Given the description of an element on the screen output the (x, y) to click on. 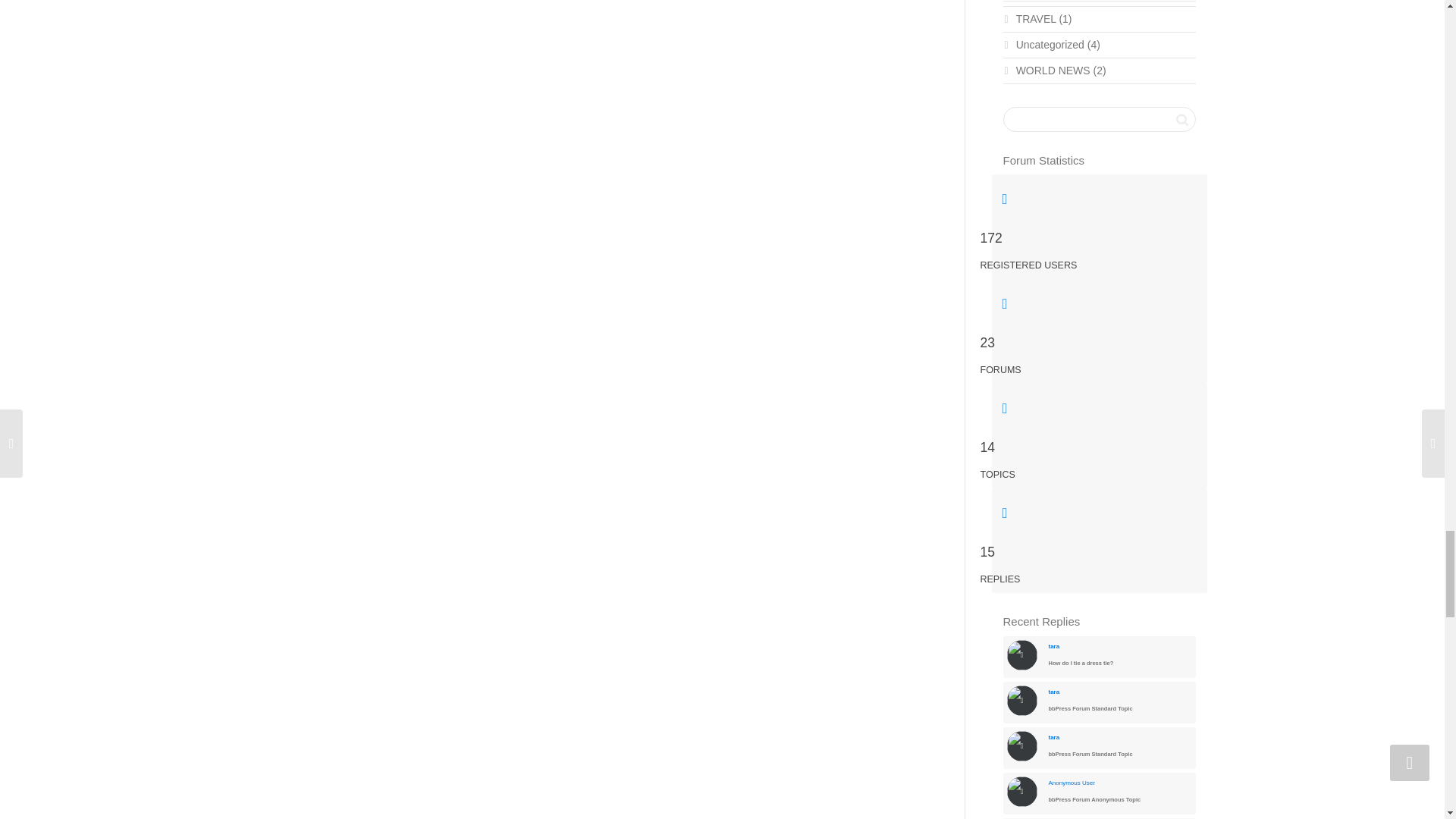
Search (1181, 119)
Search (1181, 119)
